Given the description of an element on the screen output the (x, y) to click on. 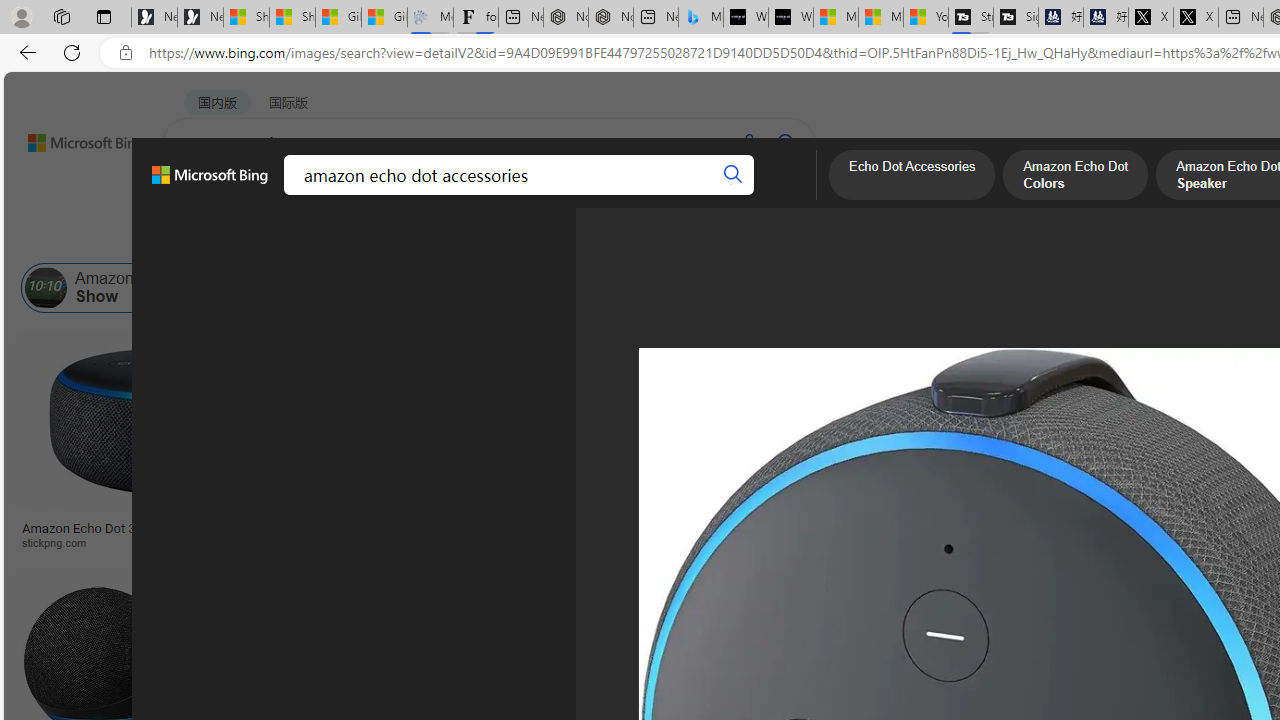
ACADEMIC (548, 195)
Date (591, 237)
Type (373, 237)
MORE (779, 195)
DICT (630, 195)
Date (591, 237)
Amazon Echo Dot 4th Gen (995, 400)
Microsoft Start (880, 17)
Amazon Echo Dot 4th Gen (995, 400)
VIDEOS (458, 195)
WEB (201, 195)
